Given the description of an element on the screen output the (x, y) to click on. 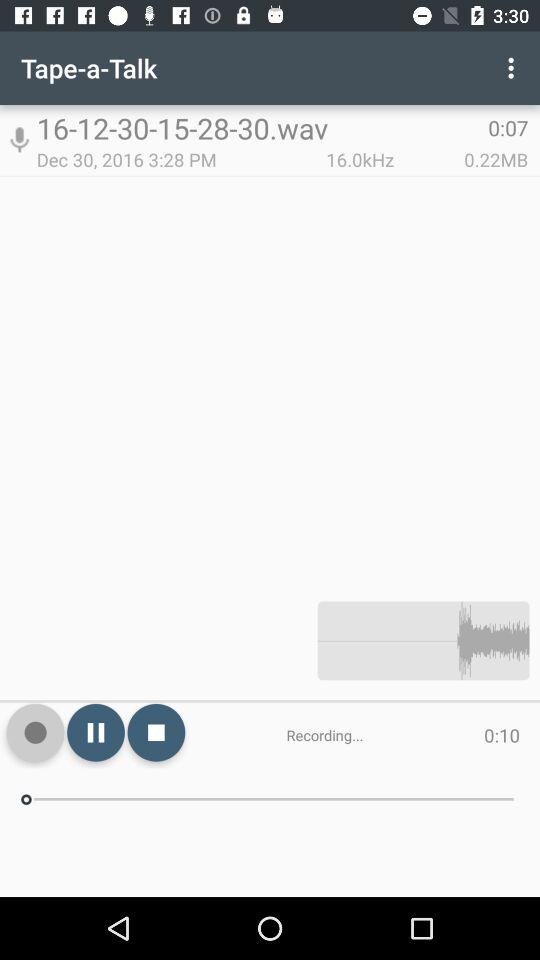
select icon next to the recording... icon (156, 732)
